Given the description of an element on the screen output the (x, y) to click on. 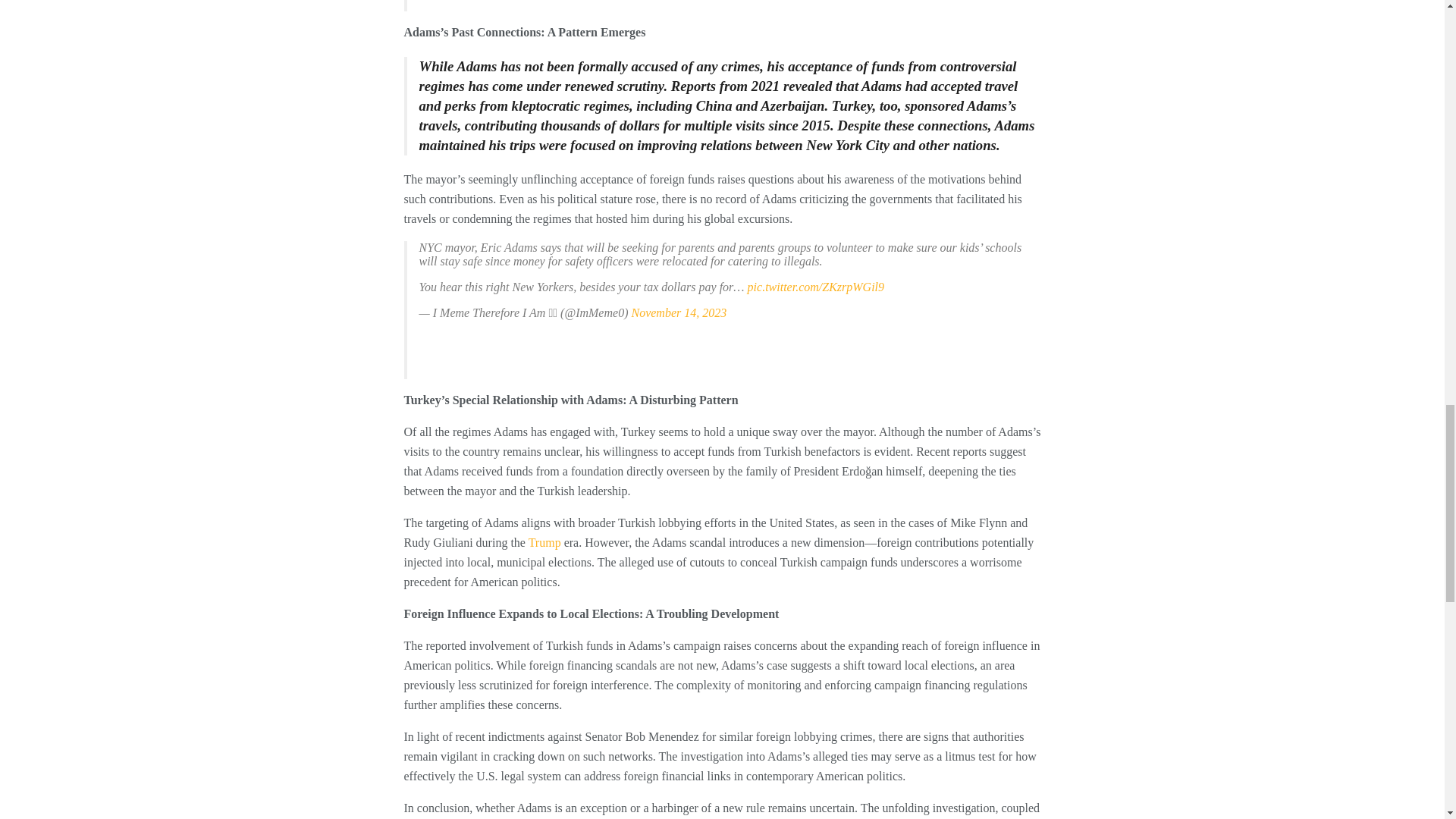
November 14, 2023 (678, 312)
Trump (544, 542)
